Given the description of an element on the screen output the (x, y) to click on. 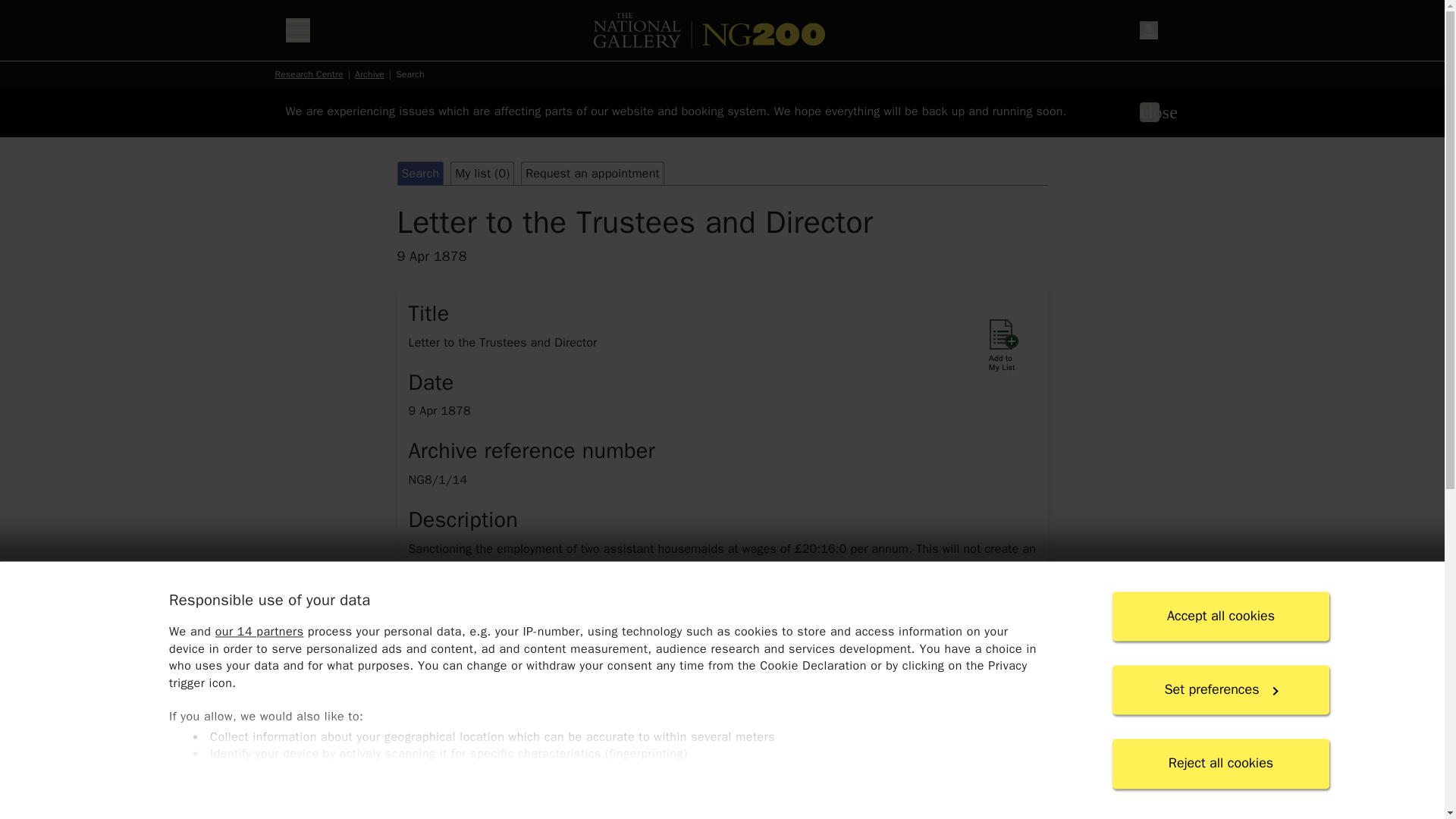
details section (720, 774)
our 14 partners (258, 631)
